Given the description of an element on the screen output the (x, y) to click on. 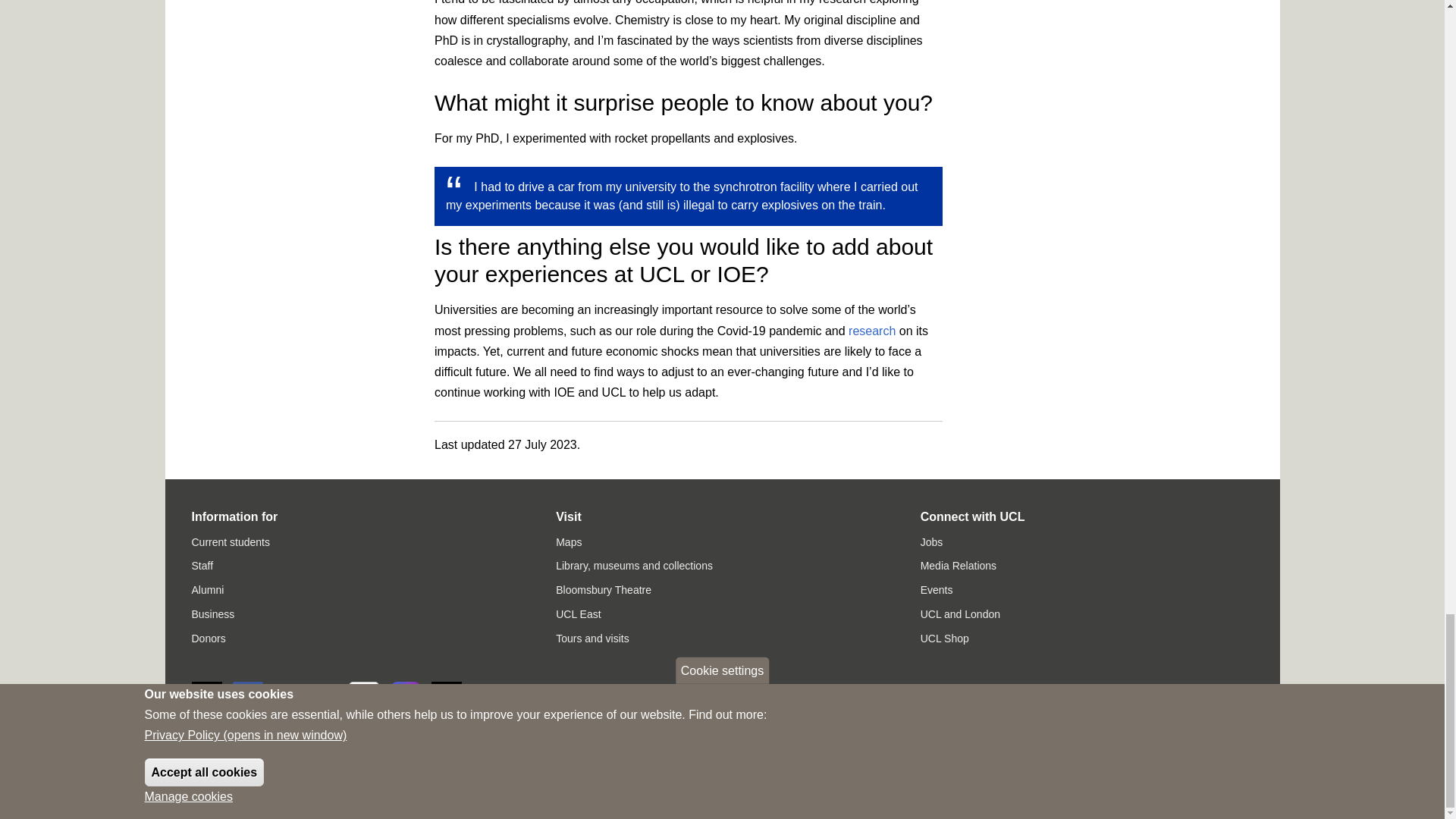
Current students (229, 541)
research (871, 330)
